Given the description of an element on the screen output the (x, y) to click on. 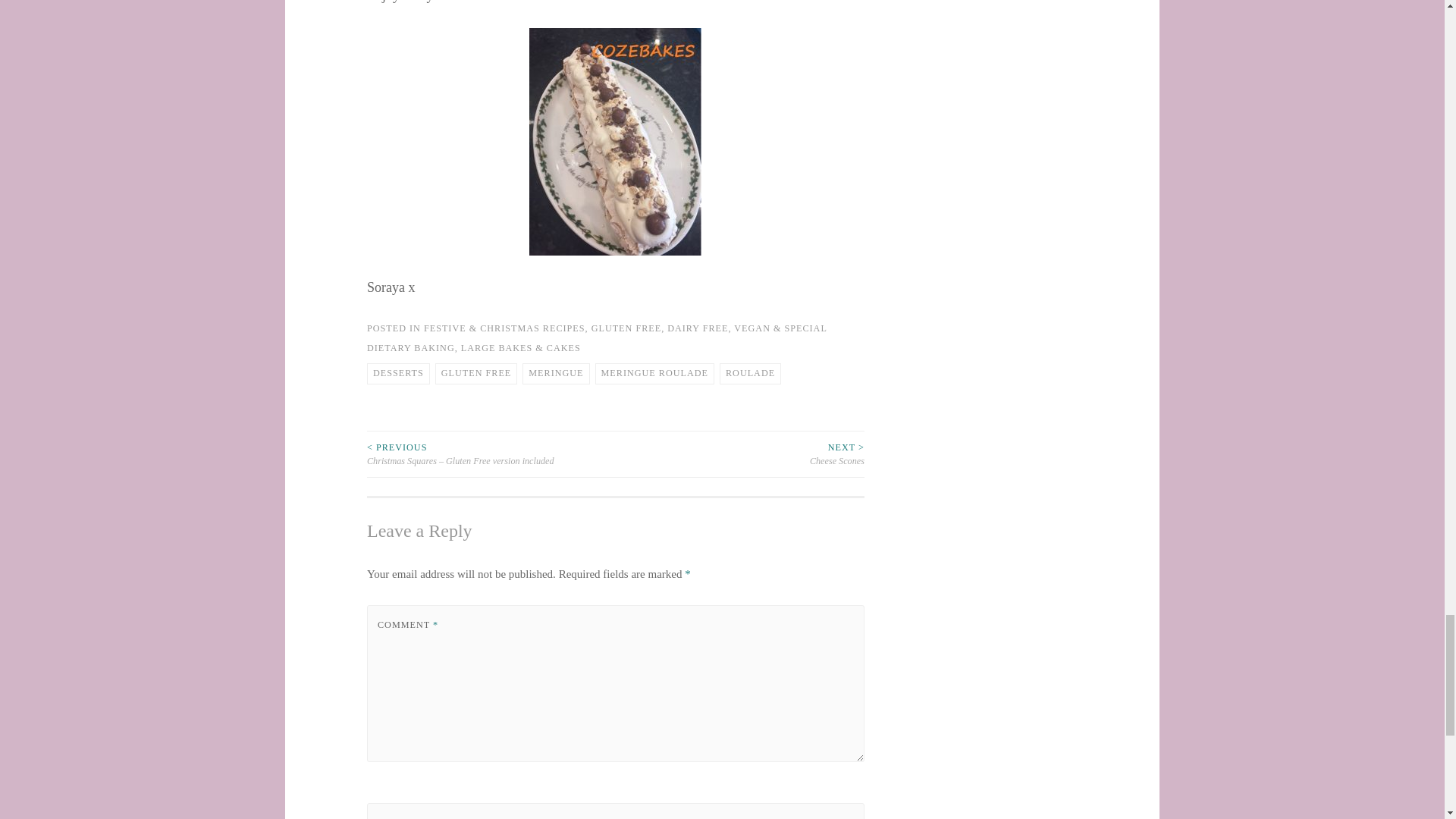
GLUTEN FREE (475, 373)
MERINGUE ROULADE (654, 373)
ROULADE (749, 373)
DESSERTS (397, 373)
MERINGUE (555, 373)
